Given the description of an element on the screen output the (x, y) to click on. 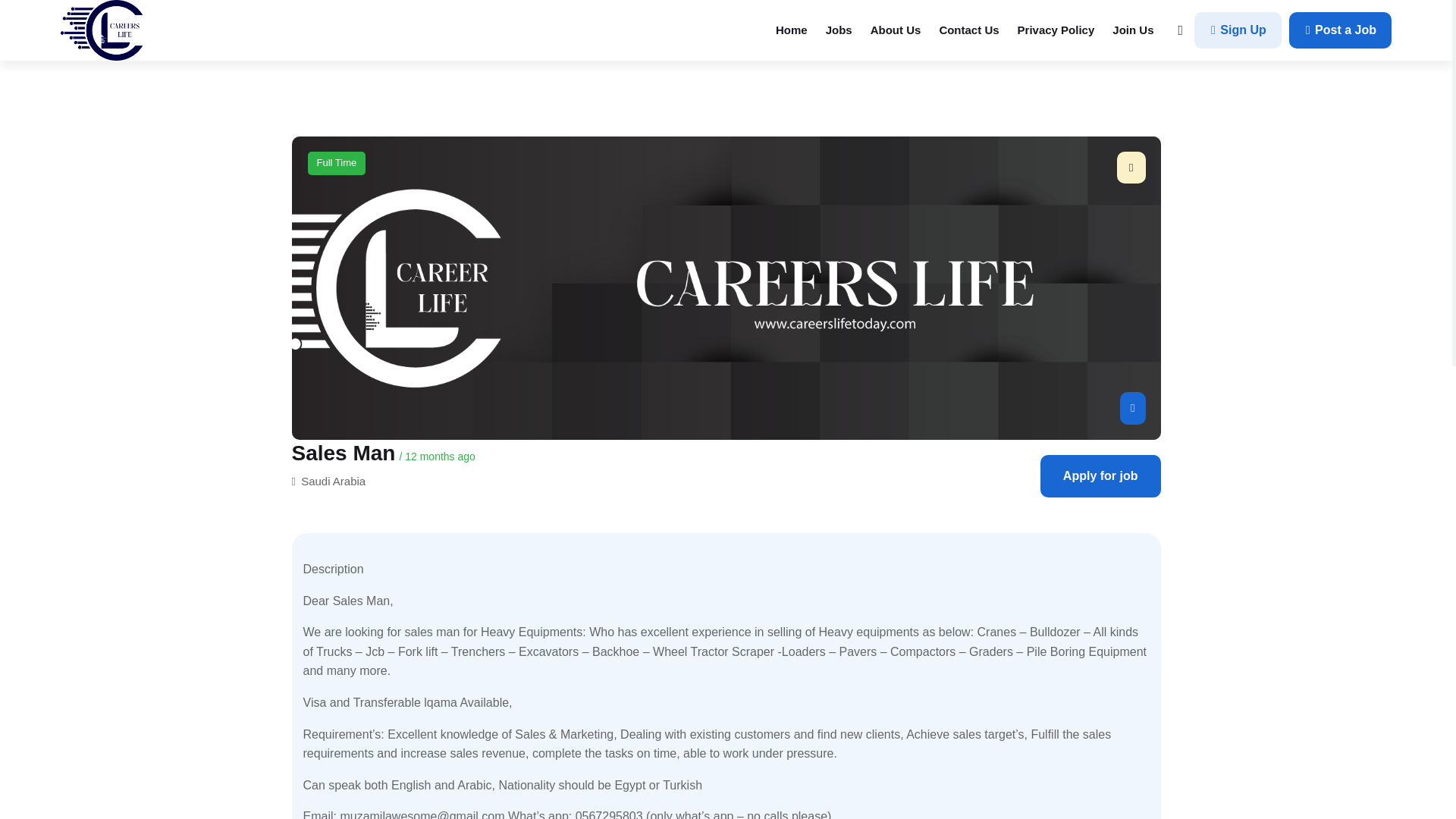
Privacy Policy (1056, 29)
Post a Job (1339, 30)
Apply for job (1100, 476)
Sign Up (1237, 30)
About Us (895, 29)
Join Us (1132, 29)
CareerLife (101, 30)
Contact Us (968, 29)
